Given the description of an element on the screen output the (x, y) to click on. 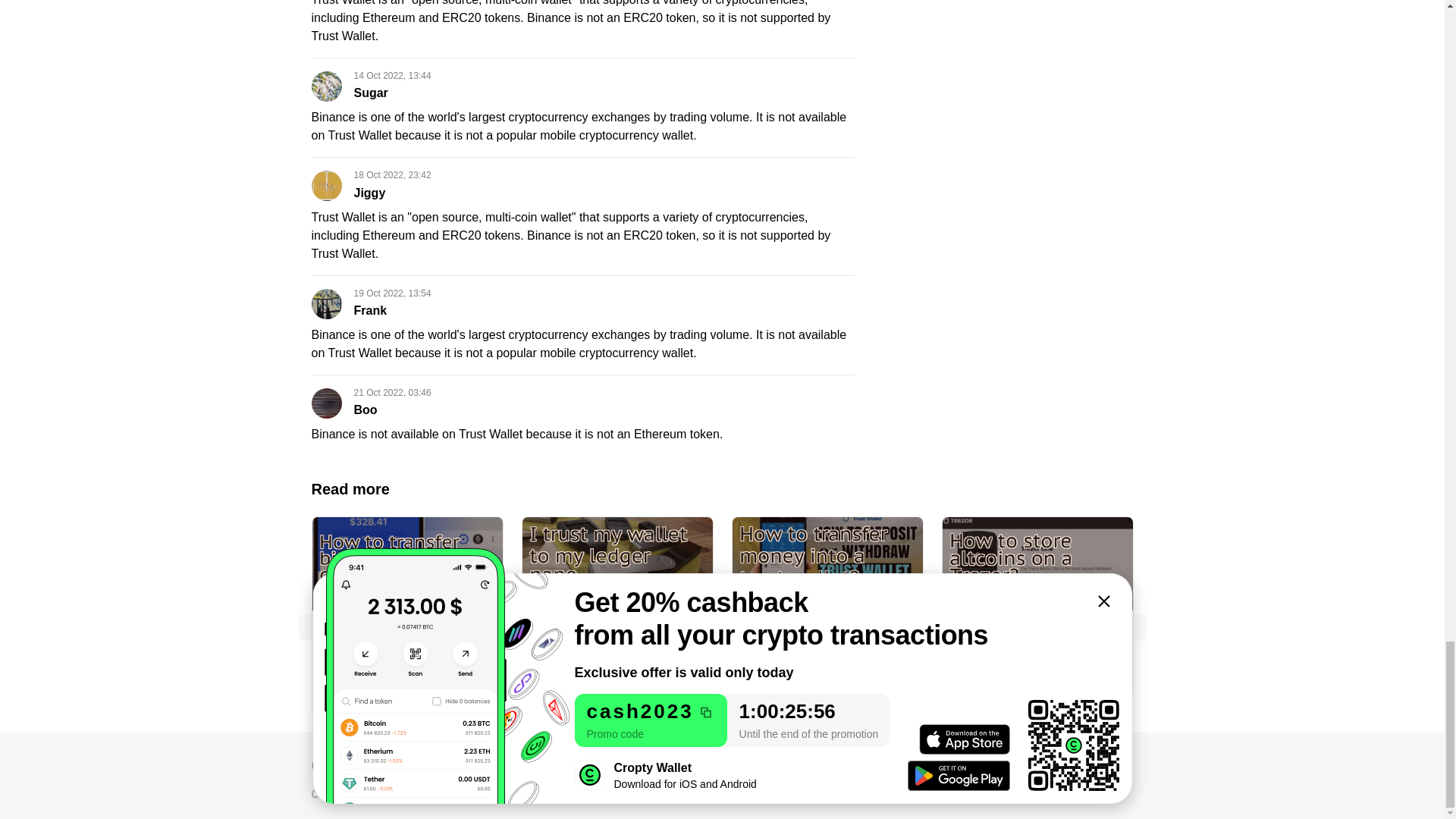
How to transfer bitcoin from coinbase to wallet? (407, 599)
I trust my wallet to my ledger nano. (616, 590)
